Given the description of an element on the screen output the (x, y) to click on. 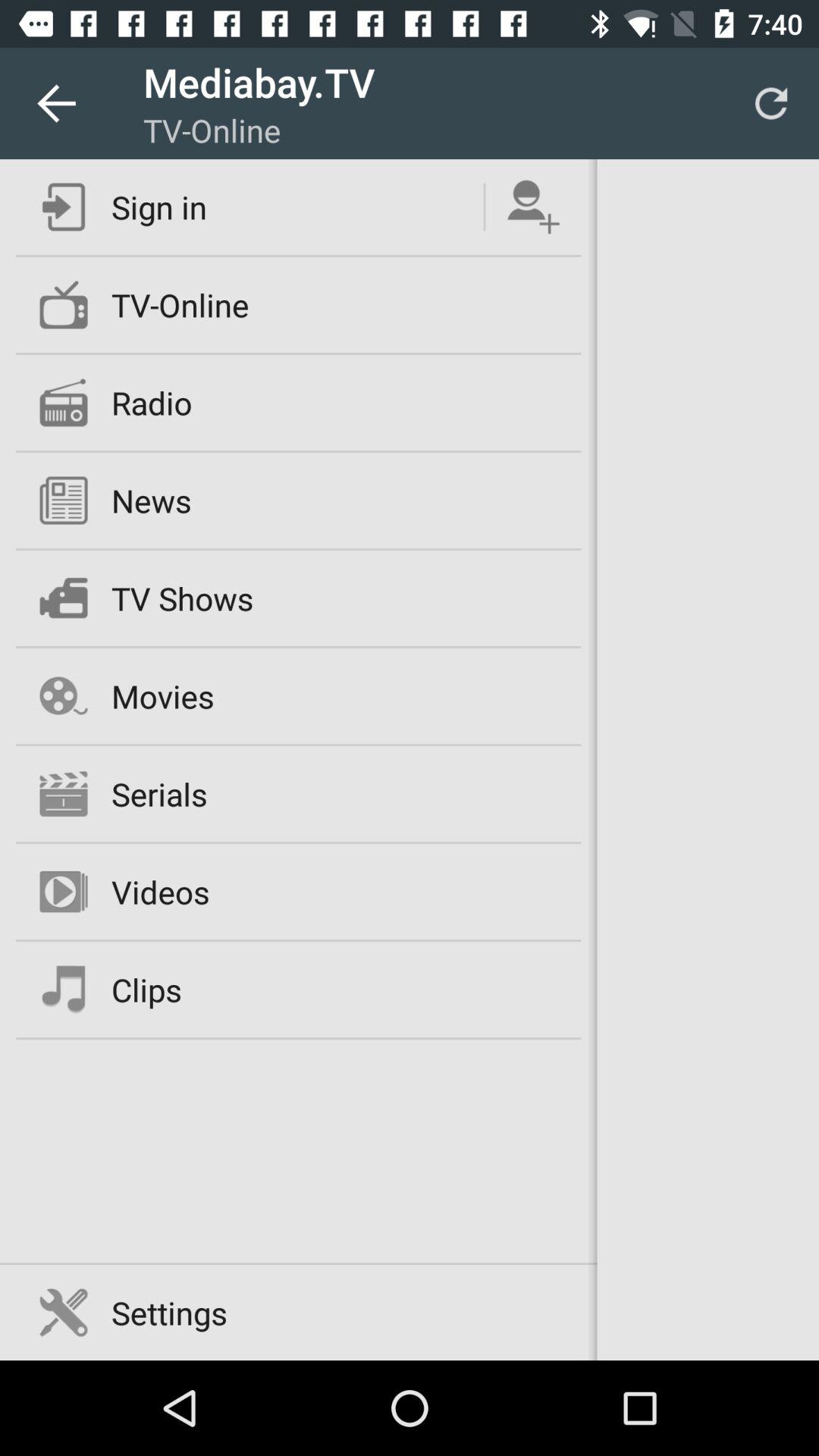
tap the item next to the mediabay.tv item (55, 103)
